Given the description of an element on the screen output the (x, y) to click on. 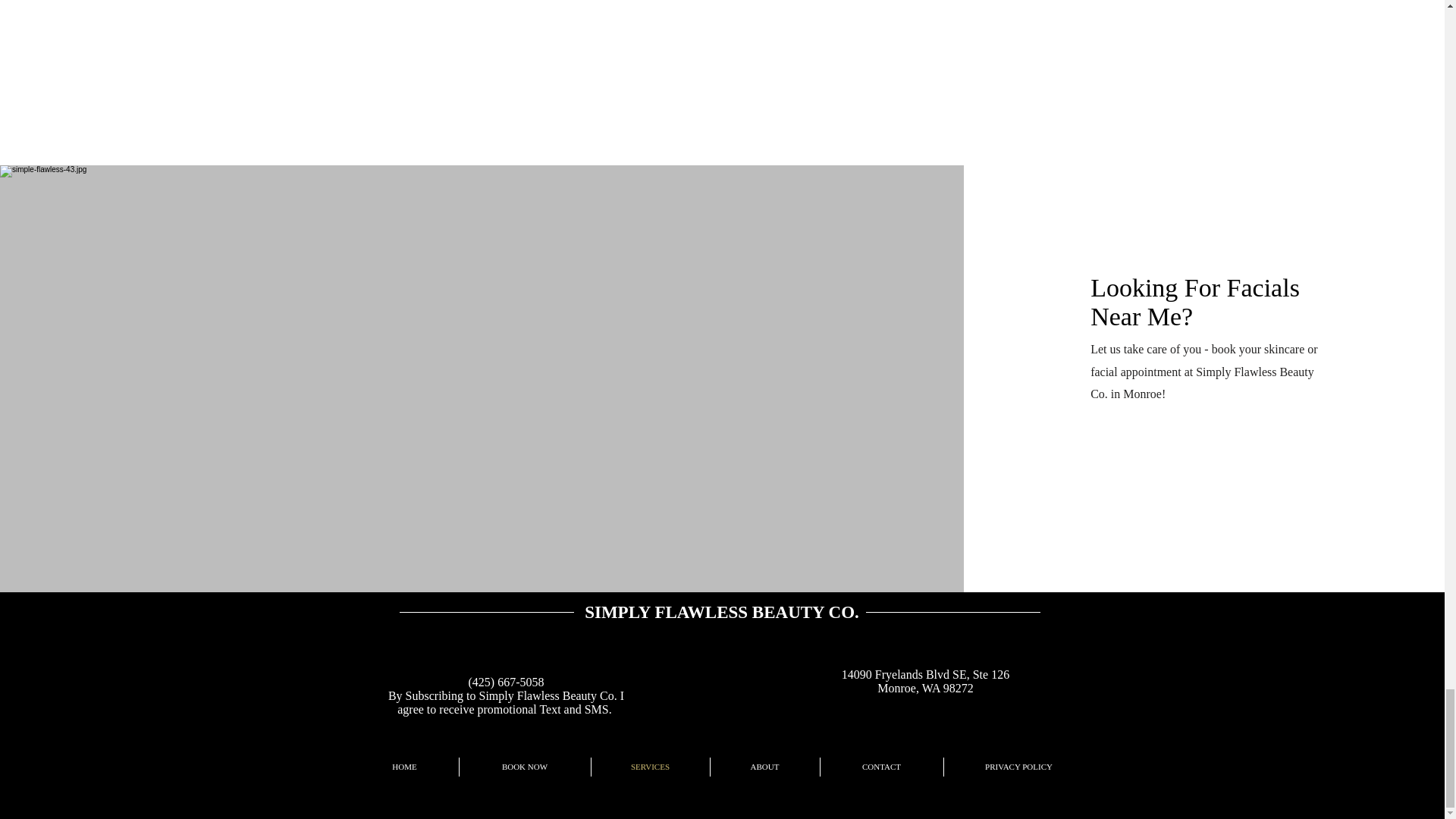
ABOUT (764, 766)
CONTACT (882, 766)
SERVICES (650, 766)
BOOK NOW (525, 766)
PRIVACY POLICY (1018, 766)
HOME (404, 766)
